Given the description of an element on the screen output the (x, y) to click on. 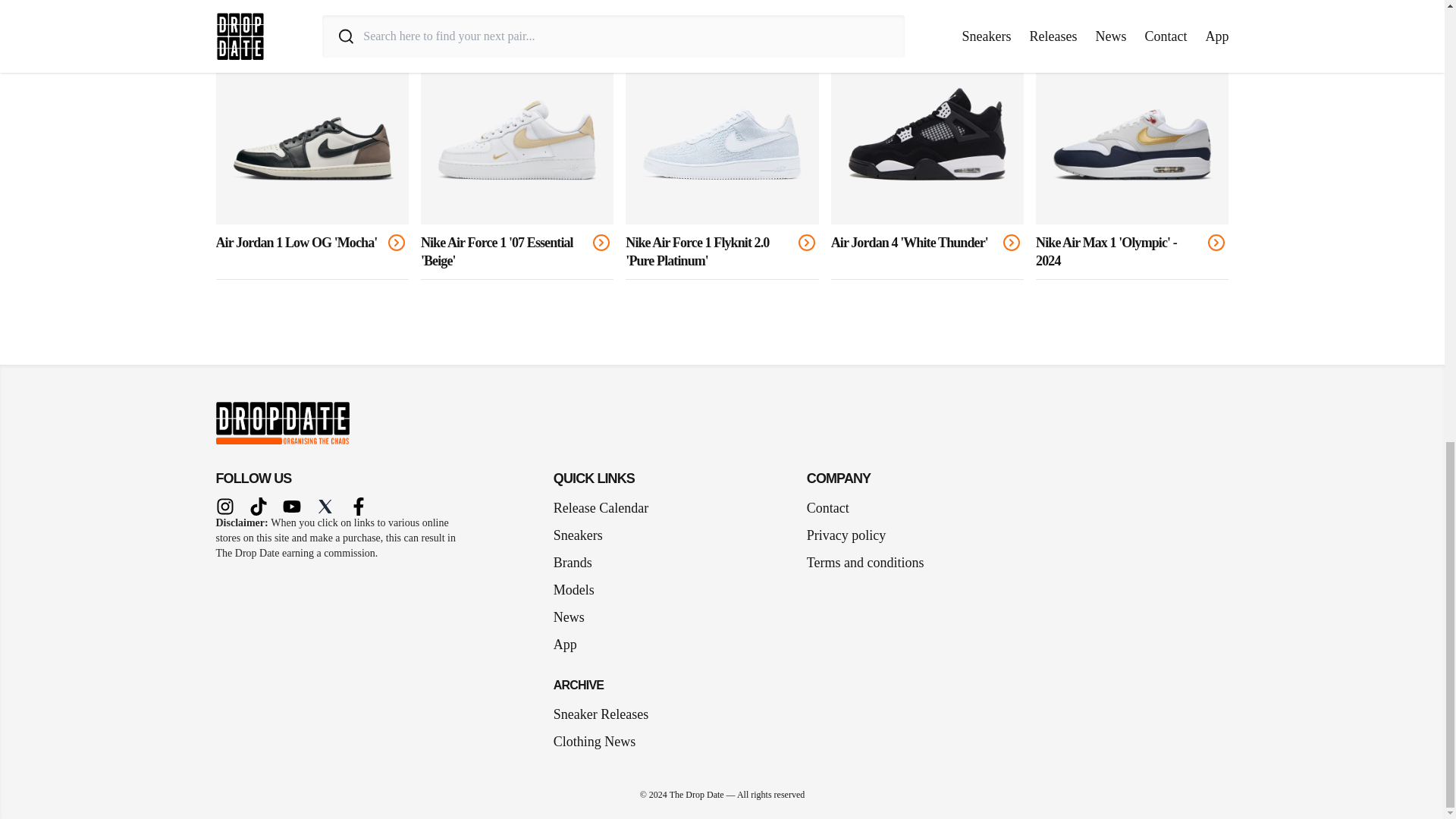
News (574, 617)
Privacy policy (845, 535)
Release Calendar (600, 507)
App (571, 644)
Sneaker Releases (600, 713)
Terms and conditions (865, 562)
Models (580, 589)
Brands (578, 562)
Sneakers (583, 535)
